Given the description of an element on the screen output the (x, y) to click on. 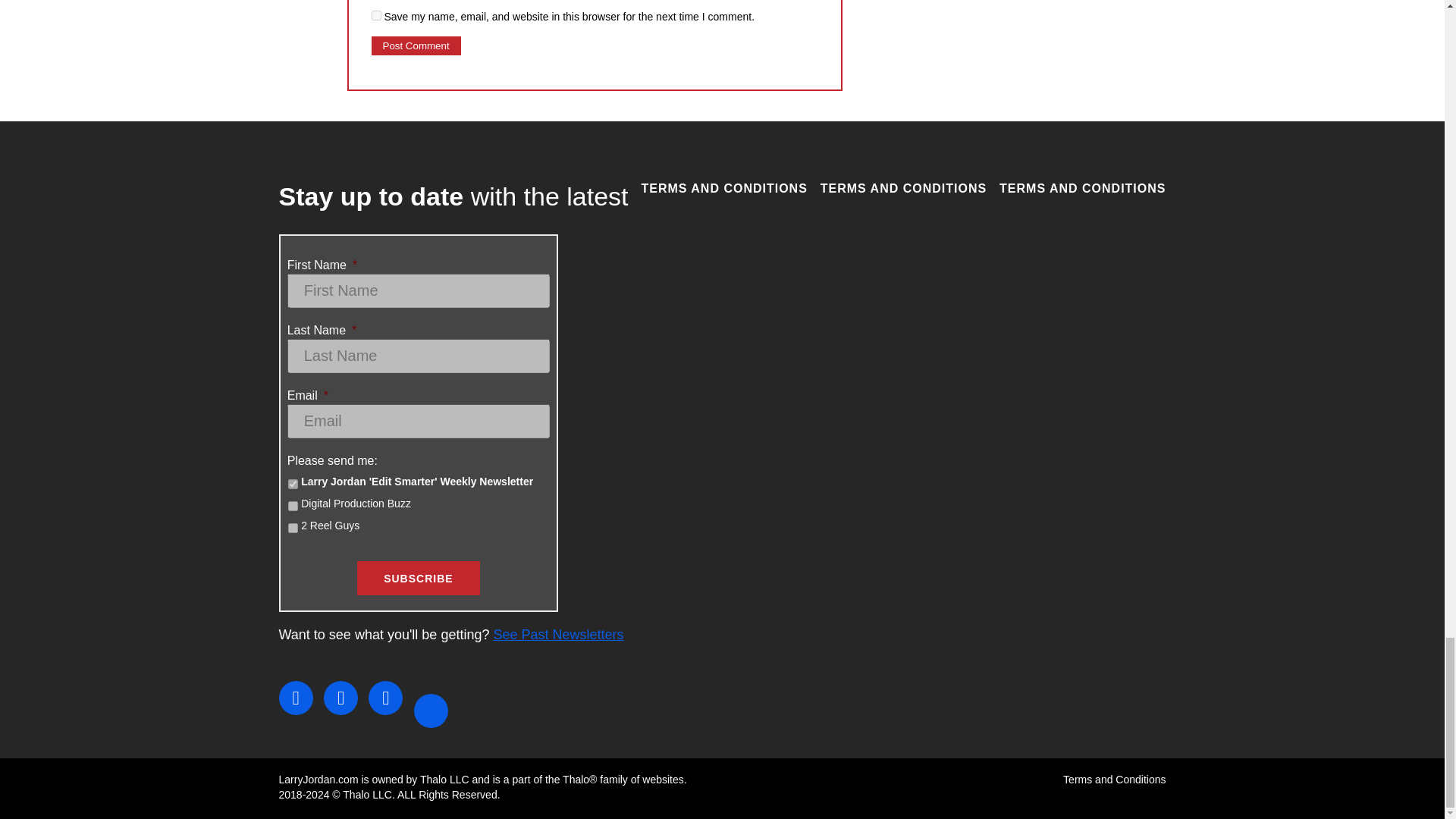
Larry Jordan 'Edit Smarter' Weekly Newsletter (293, 483)
SUBSCRIBE (417, 578)
Digital Production Buzz (293, 506)
2 Reel Guys (293, 528)
Post Comment (416, 45)
YouTube (430, 710)
Facebook (296, 697)
yes (376, 15)
LinkedIn (385, 697)
Twitter (340, 697)
Newsletter Archive (558, 634)
